Given the description of an element on the screen output the (x, y) to click on. 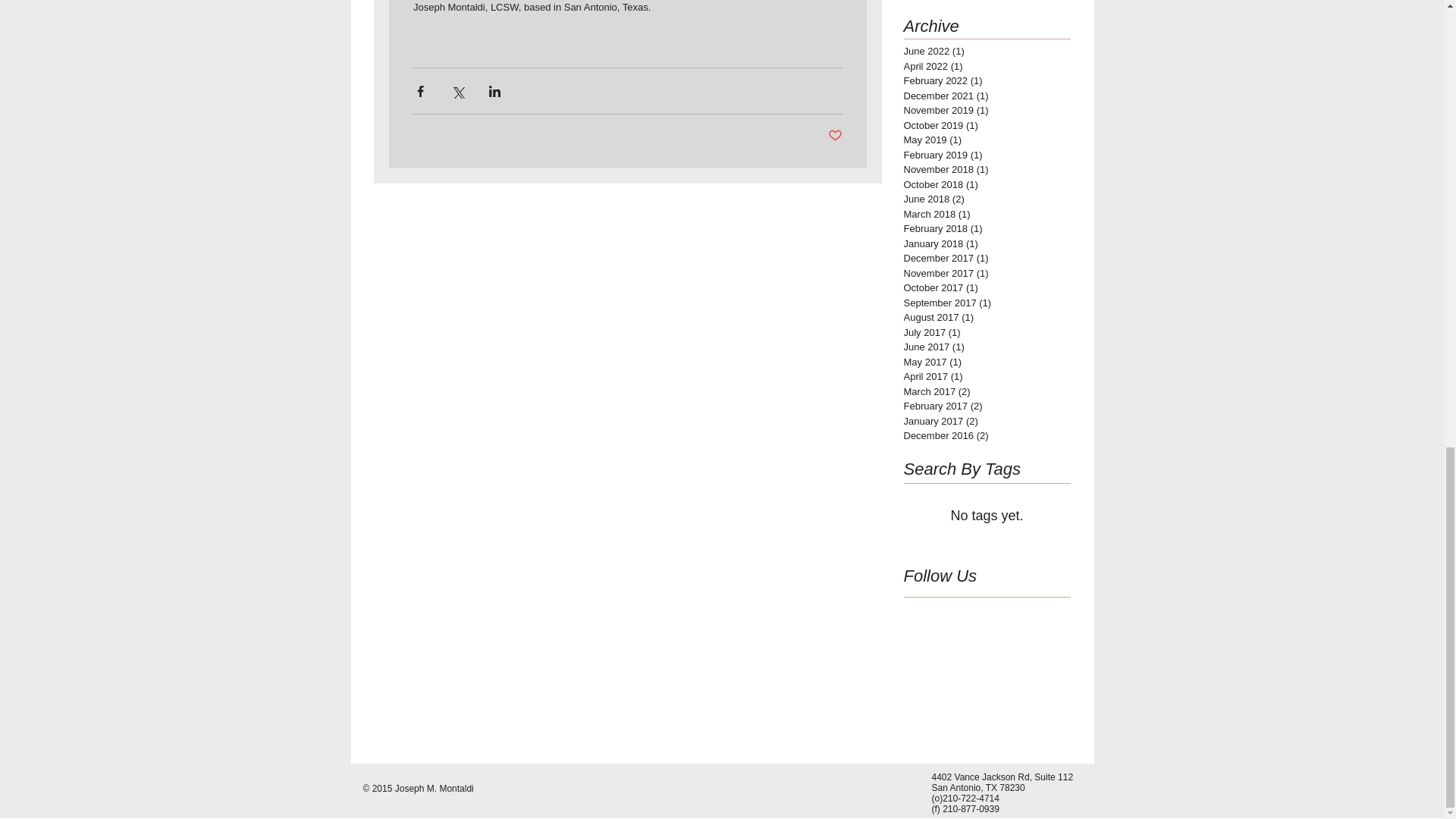
Post not marked as liked (835, 135)
